Given the description of an element on the screen output the (x, y) to click on. 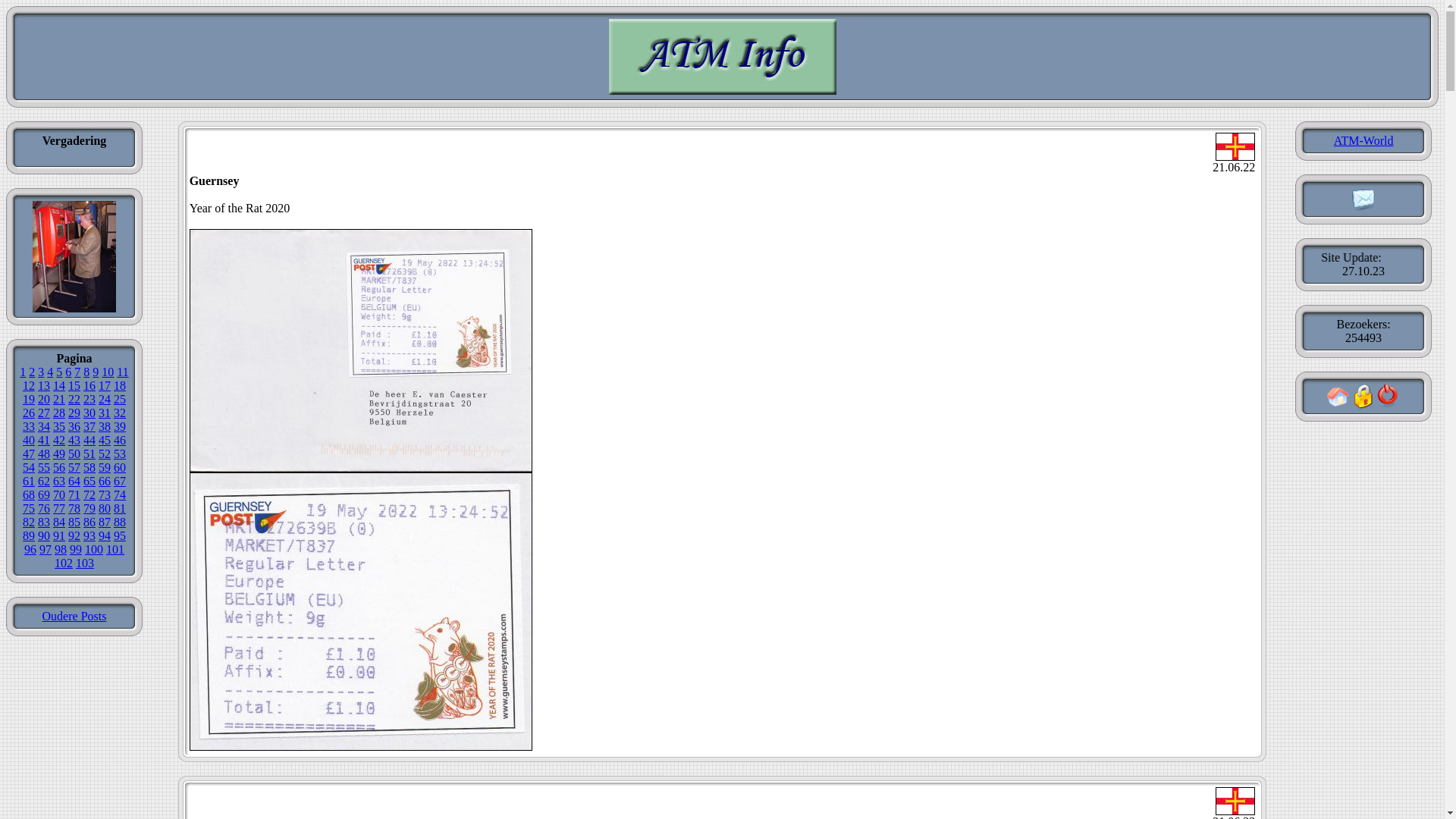
62 Element type: text (43, 480)
46 Element type: text (119, 439)
1 Element type: text (22, 371)
37 Element type: text (89, 426)
87 Element type: text (104, 521)
21 Element type: text (59, 398)
56 Element type: text (59, 467)
32 Element type: text (119, 412)
61 Element type: text (28, 480)
29 Element type: text (74, 412)
15 Element type: text (74, 385)
81 Element type: text (119, 508)
100 Element type: text (93, 548)
82 Element type: text (28, 521)
53 Element type: text (119, 453)
6 Element type: text (68, 371)
73 Element type: text (104, 494)
31 Element type: text (104, 412)
80 Element type: text (104, 508)
97 Element type: text (45, 548)
33 Element type: text (28, 426)
78 Element type: text (74, 508)
84 Element type: text (59, 521)
42 Element type: text (59, 439)
9 Element type: text (95, 371)
44 Element type: text (89, 439)
10 Element type: text (107, 371)
65 Element type: text (89, 480)
93 Element type: text (89, 535)
43 Element type: text (74, 439)
60 Element type: text (119, 467)
58 Element type: text (89, 467)
5 Element type: text (59, 371)
16 Element type: text (89, 385)
88 Element type: text (119, 521)
95 Element type: text (119, 535)
28 Element type: text (59, 412)
89 Element type: text (28, 535)
Oudere Posts Element type: text (74, 615)
26 Element type: text (28, 412)
48 Element type: text (43, 453)
54 Element type: text (28, 467)
49 Element type: text (59, 453)
70 Element type: text (59, 494)
74 Element type: text (119, 494)
22 Element type: text (74, 398)
2 Element type: text (31, 371)
67 Element type: text (119, 480)
52 Element type: text (104, 453)
69 Element type: text (43, 494)
77 Element type: text (59, 508)
47 Element type: text (28, 453)
35 Element type: text (59, 426)
94 Element type: text (104, 535)
40 Element type: text (28, 439)
50 Element type: text (74, 453)
63 Element type: text (59, 480)
7 Element type: text (77, 371)
27 Element type: text (43, 412)
12 Element type: text (28, 385)
59 Element type: text (104, 467)
38 Element type: text (104, 426)
18 Element type: text (119, 385)
66 Element type: text (104, 480)
86 Element type: text (89, 521)
57 Element type: text (74, 467)
76 Element type: text (43, 508)
13 Element type: text (43, 385)
75 Element type: text (28, 508)
71 Element type: text (74, 494)
ATM-World Element type: text (1363, 140)
90 Element type: text (43, 535)
36 Element type: text (74, 426)
64 Element type: text (74, 480)
17 Element type: text (104, 385)
11 Element type: text (122, 371)
20 Element type: text (43, 398)
96 Element type: text (30, 548)
102 Element type: text (63, 562)
19 Element type: text (28, 398)
72 Element type: text (89, 494)
68 Element type: text (28, 494)
45 Element type: text (104, 439)
85 Element type: text (74, 521)
24 Element type: text (104, 398)
25 Element type: text (119, 398)
39 Element type: text (119, 426)
51 Element type: text (89, 453)
83 Element type: text (43, 521)
14 Element type: text (59, 385)
103 Element type: text (84, 562)
23 Element type: text (89, 398)
91 Element type: text (59, 535)
101 Element type: text (115, 548)
34 Element type: text (43, 426)
55 Element type: text (43, 467)
8 Element type: text (86, 371)
30 Element type: text (89, 412)
99 Element type: text (75, 548)
79 Element type: text (89, 508)
92 Element type: text (74, 535)
98 Element type: text (60, 548)
4 Element type: text (50, 371)
3 Element type: text (40, 371)
41 Element type: text (43, 439)
